Given the description of an element on the screen output the (x, y) to click on. 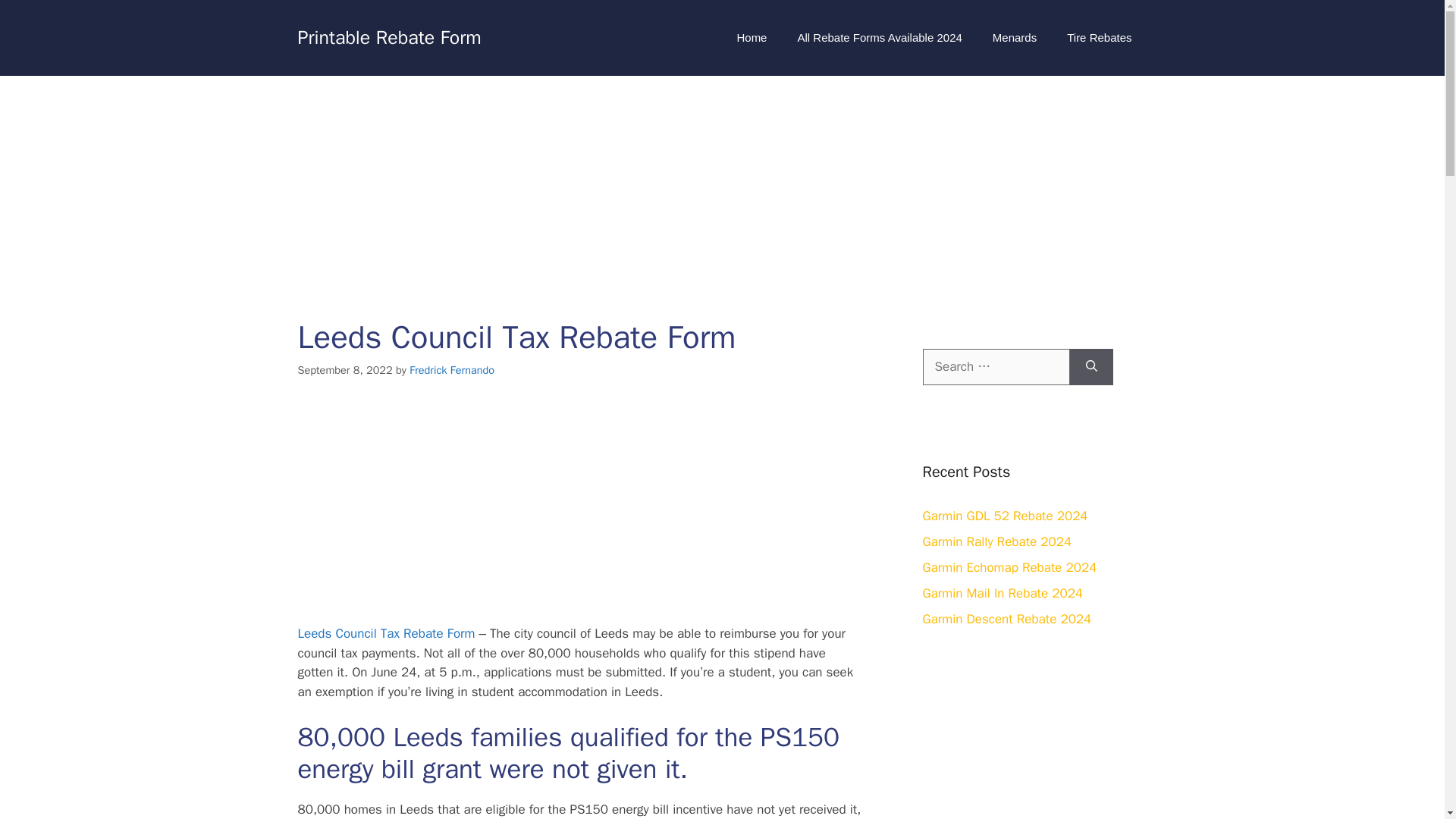
Printable Rebate Form (388, 37)
Garmin Rally Rebate 2024 (996, 541)
Leeds Council Tax Rebate Form (385, 633)
Garmin GDL 52 Rebate 2024 (1004, 515)
All Rebate Forms Available 2024 (878, 37)
Home (750, 37)
View all posts by Fredrick Fernando (452, 369)
Tire Rebates (1099, 37)
Menards (1013, 37)
Fredrick Fernando (452, 369)
